Given the description of an element on the screen output the (x, y) to click on. 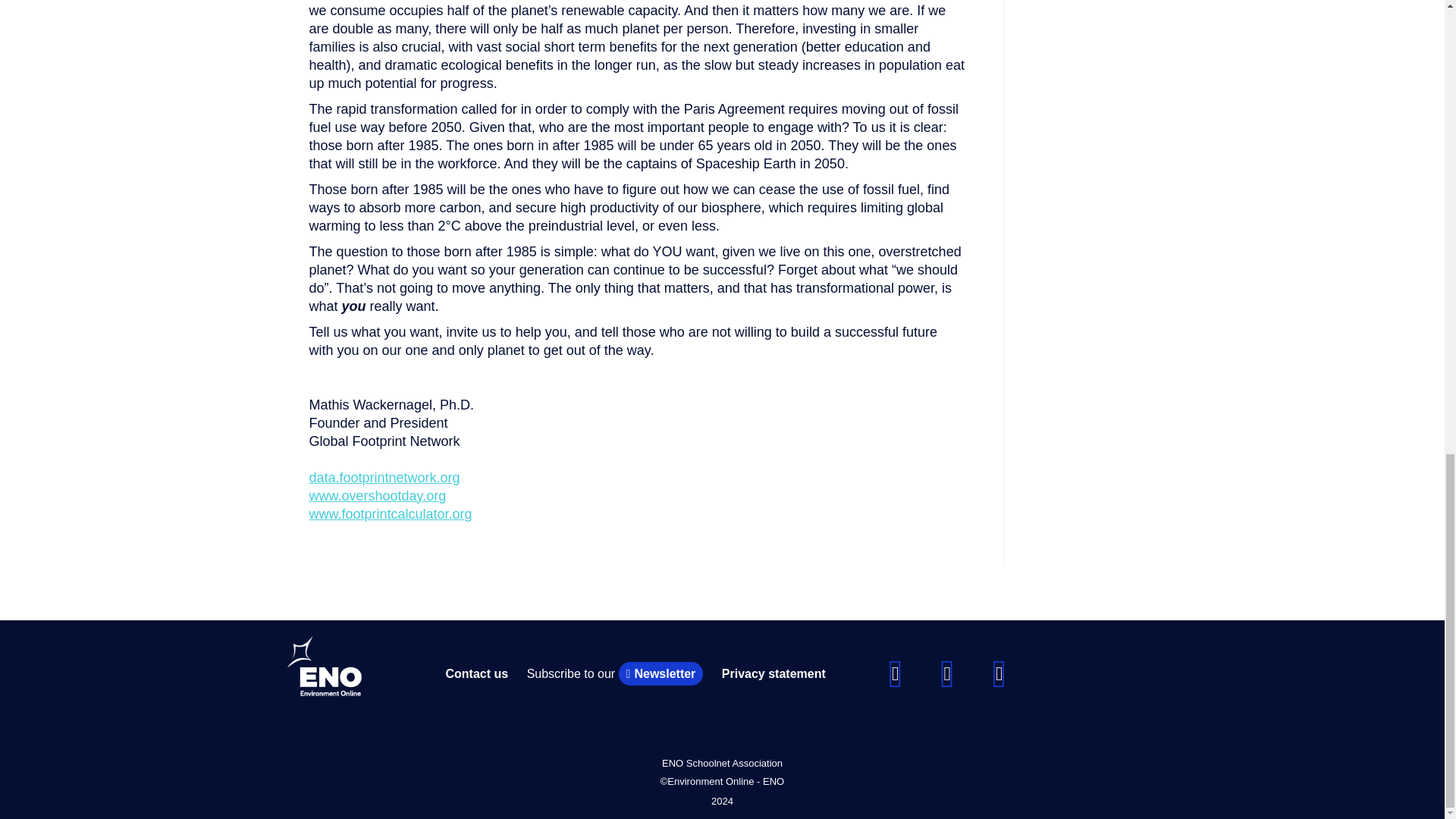
Contact us (476, 673)
ENO Programme on Instagram (999, 672)
Privacy statement (773, 673)
ENO Programme on Facebook (895, 672)
ENO Programme on Twitter (947, 672)
